Given the description of an element on the screen output the (x, y) to click on. 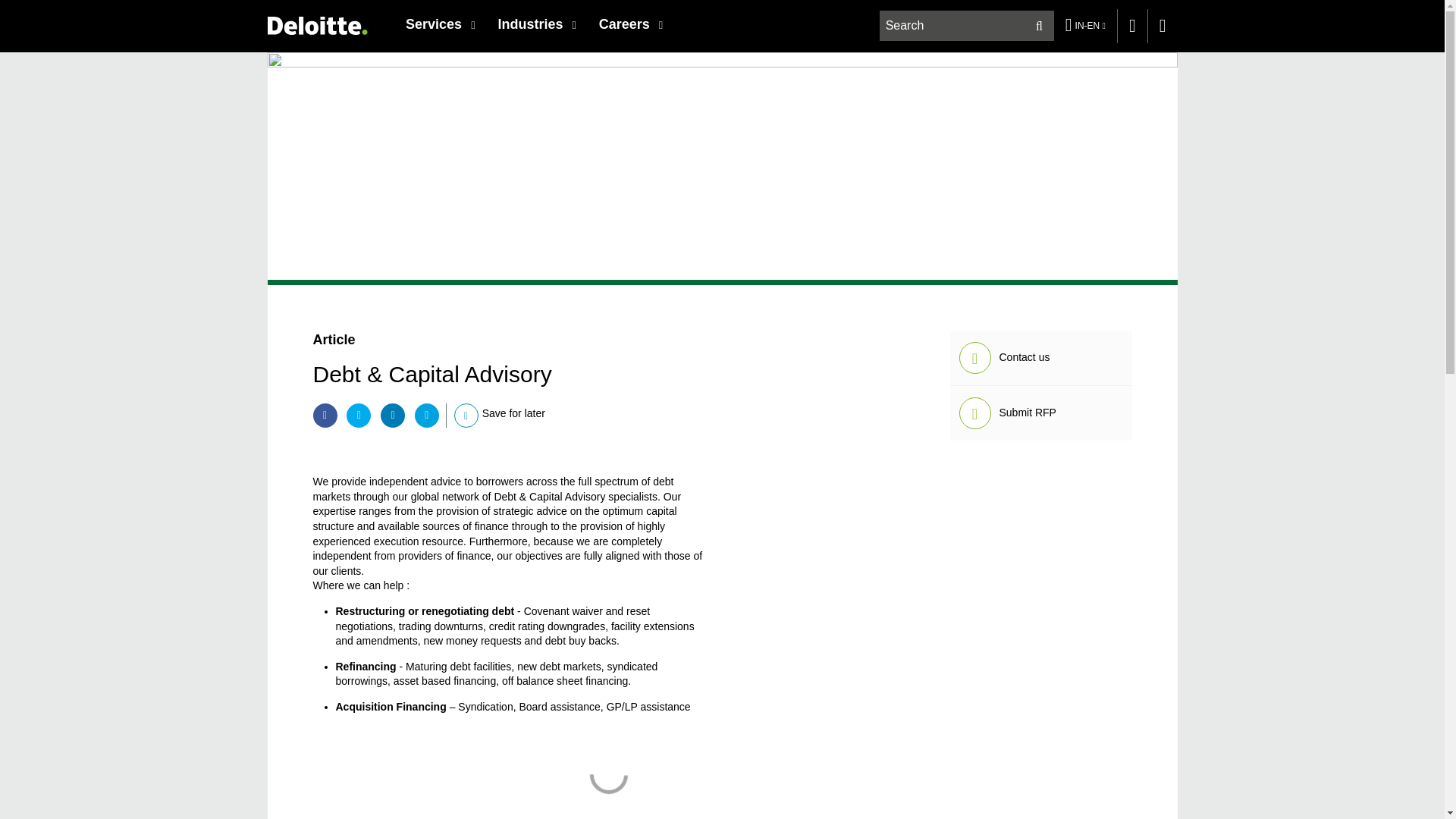
Share via Email (426, 415)
Industries (536, 24)
Share via Twitter (358, 415)
Deloitte India (316, 25)
search (967, 25)
Search (1039, 25)
Save for later (466, 415)
Services (440, 24)
FA-CFA-8 (607, 771)
Share via Facebook (324, 415)
